Given the description of an element on the screen output the (x, y) to click on. 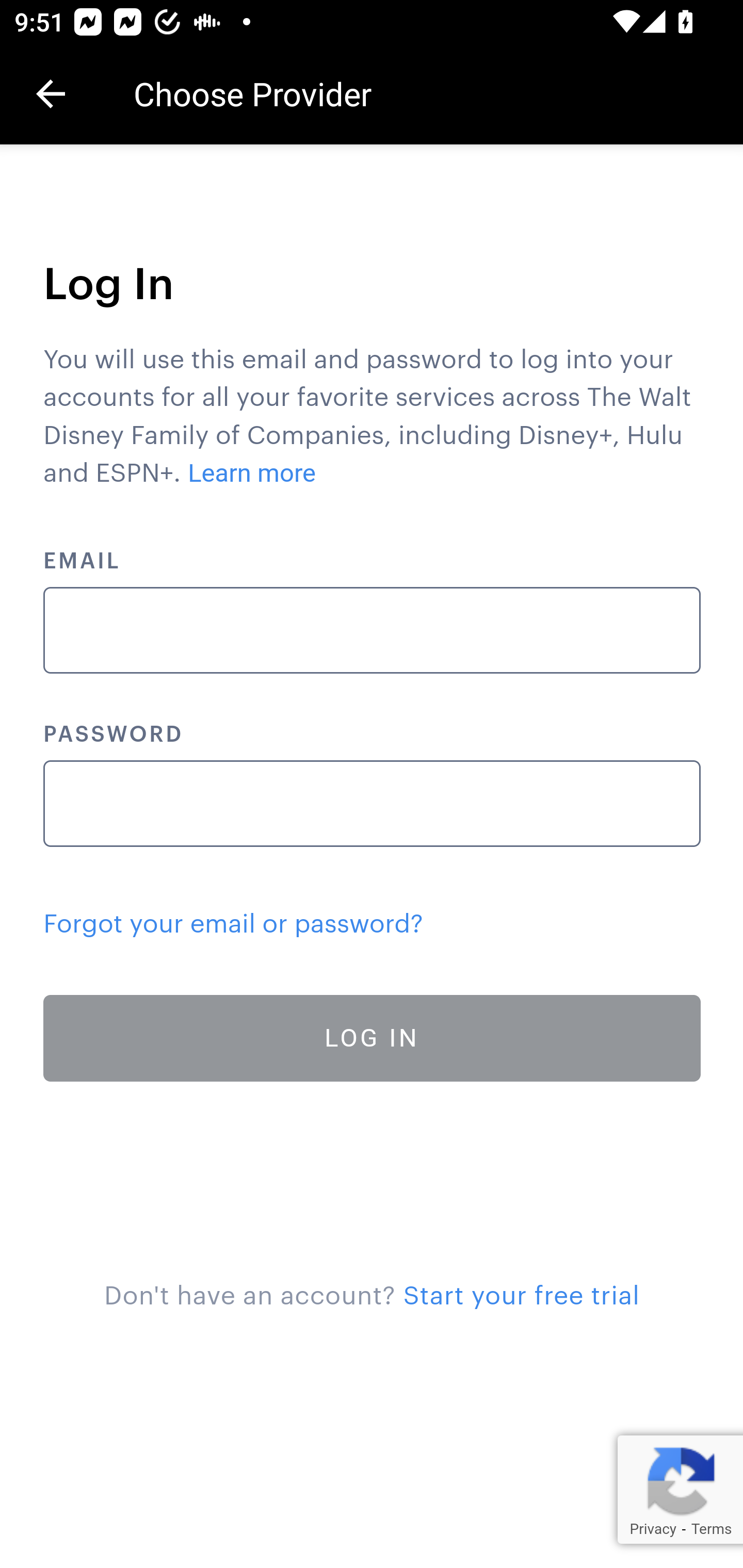
Navigate up (50, 93)
Learn more (252, 473)
Forgot your email or password? (233, 924)
LOG IN (372, 1037)
Start your free trial (521, 1295)
Privacy (652, 1528)
Terms (711, 1528)
